Given the description of an element on the screen output the (x, y) to click on. 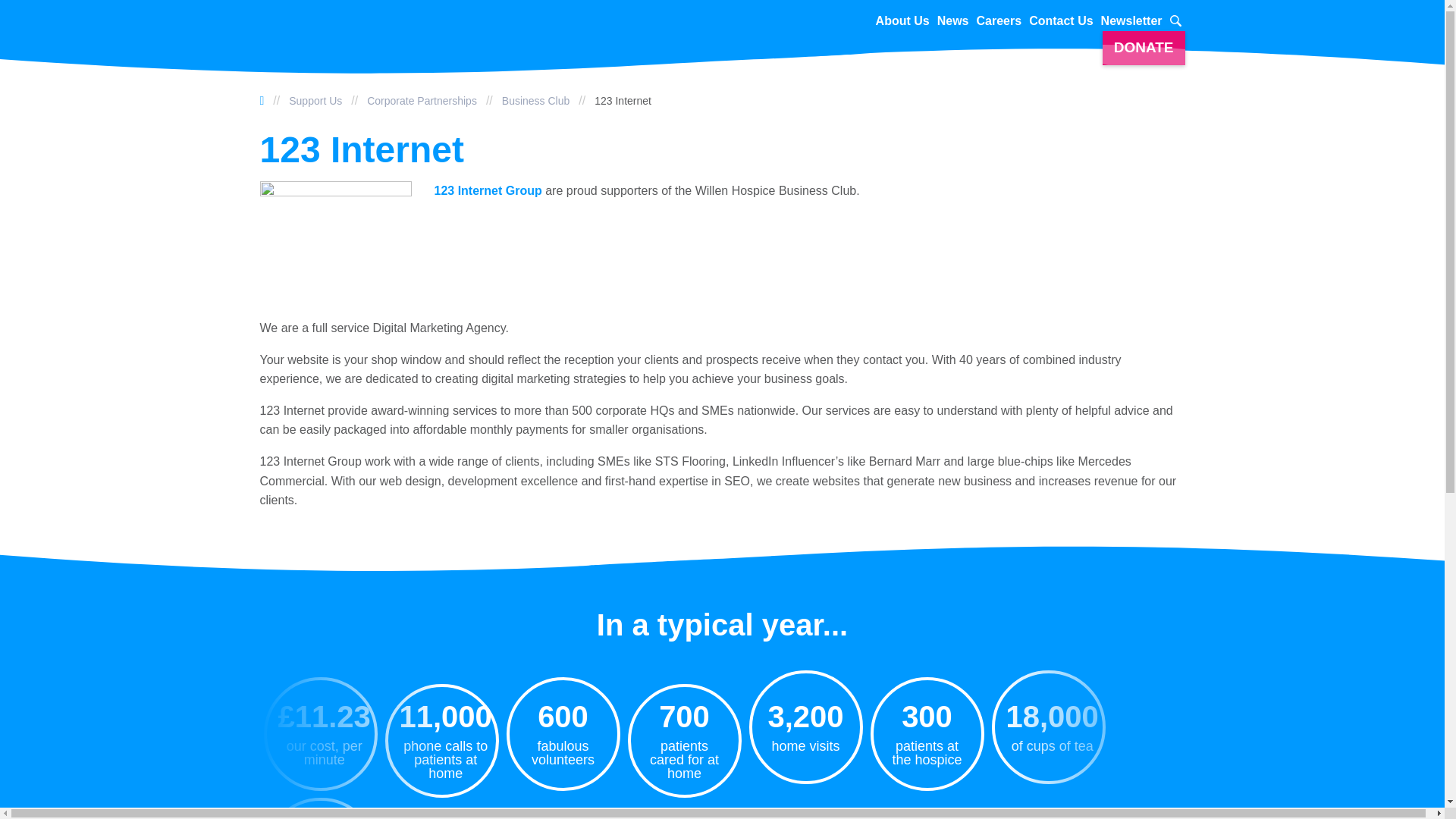
Business Club (536, 100)
Corporate Partnerships (421, 100)
Contact Us (1061, 21)
About Us (903, 21)
Support Us (315, 100)
GO (1166, 22)
News (953, 21)
DONATE (1143, 48)
Newsletter (1130, 21)
Careers (999, 21)
